Given the description of an element on the screen output the (x, y) to click on. 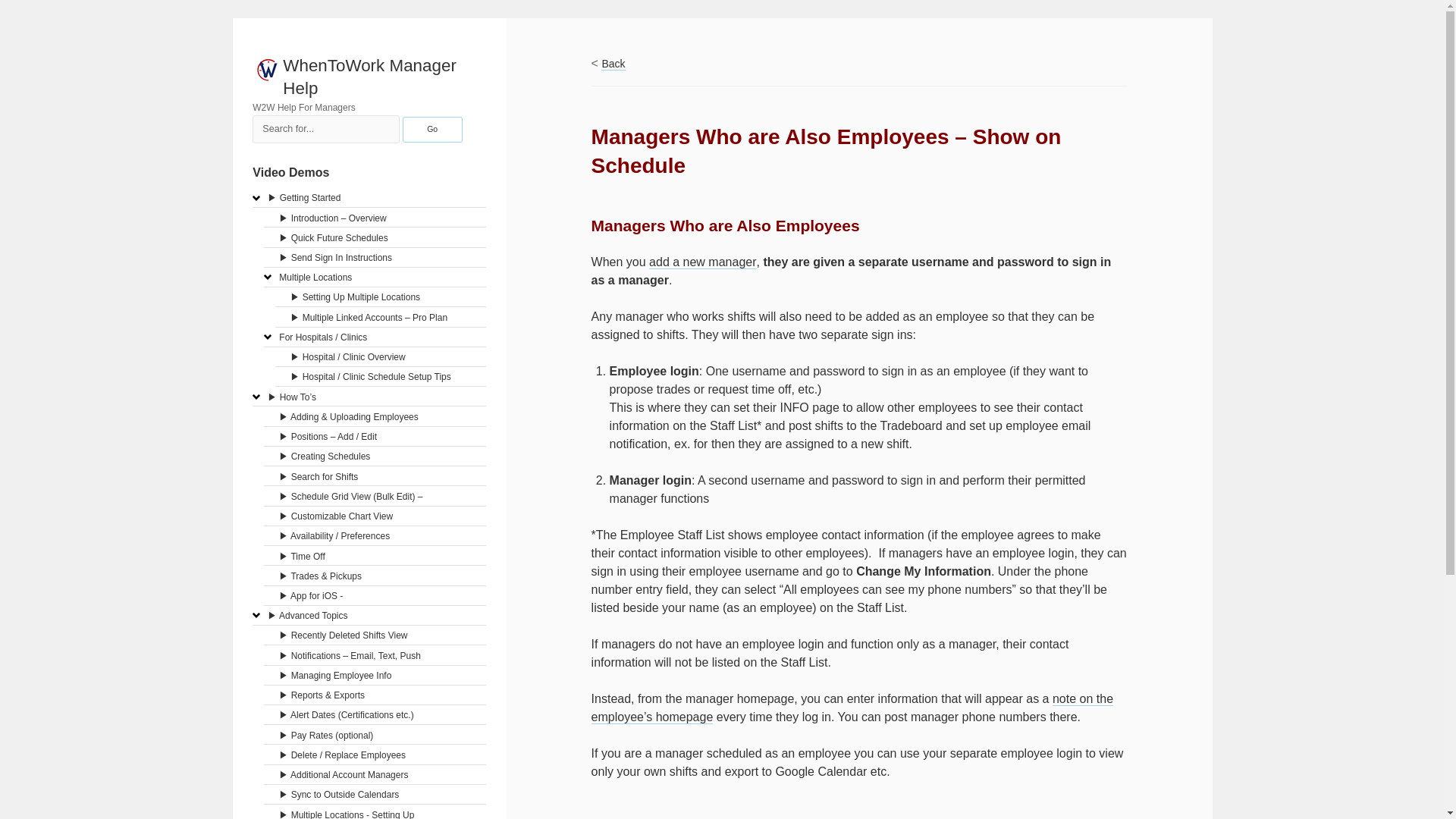
WhenToWork Manager Help (369, 76)
Go (433, 129)
Search for: (324, 129)
Go (433, 129)
